Given the description of an element on the screen output the (x, y) to click on. 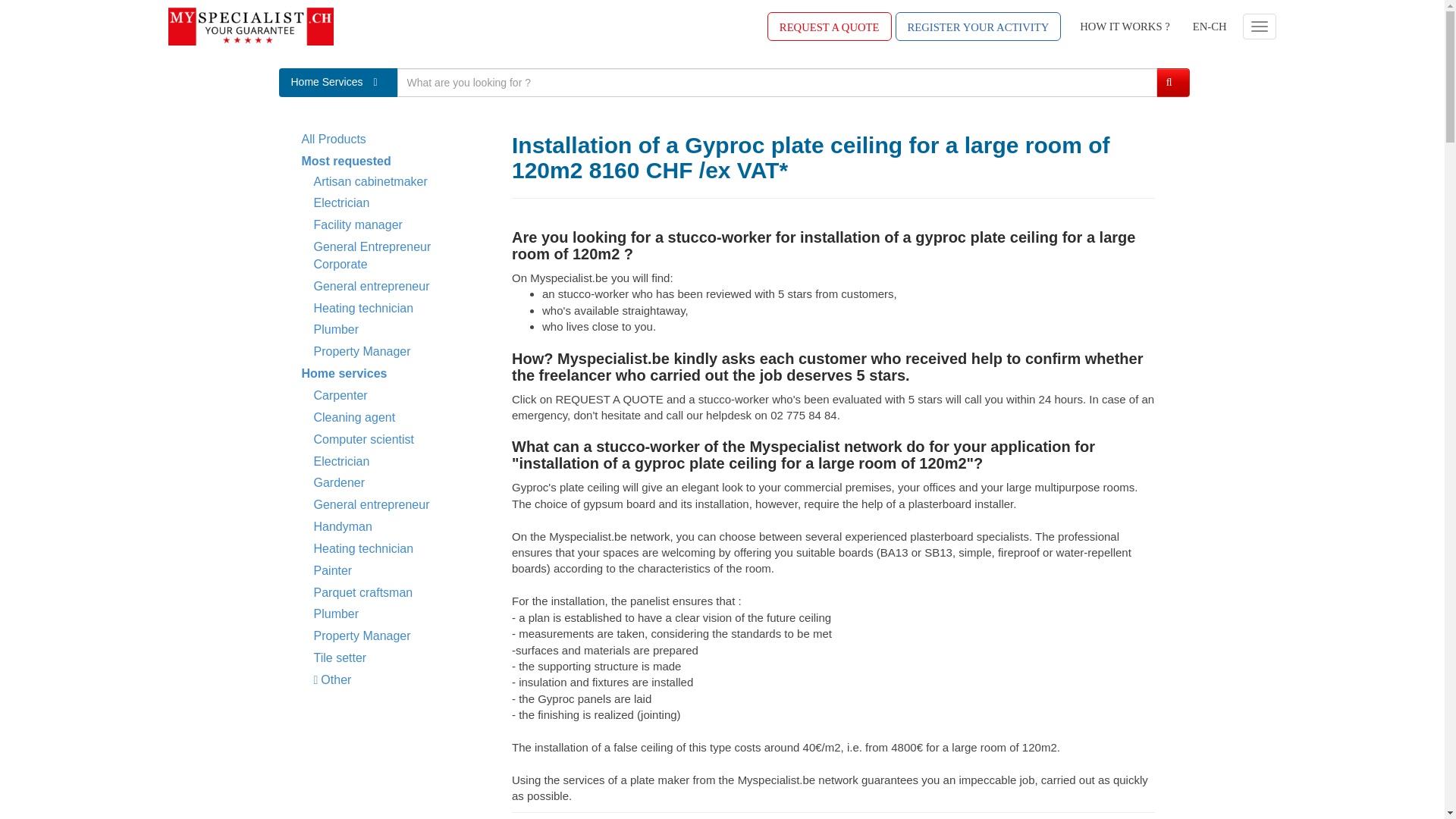
REQUEST A QUOTE (829, 26)
Toggle navigation (1258, 26)
EN-CH (1209, 26)
REGISTER YOUR ACTIVITY (978, 26)
HOW IT WORKS ? (1124, 26)
WWW.MYSPECIALIST.CH (250, 26)
